Given the description of an element on the screen output the (x, y) to click on. 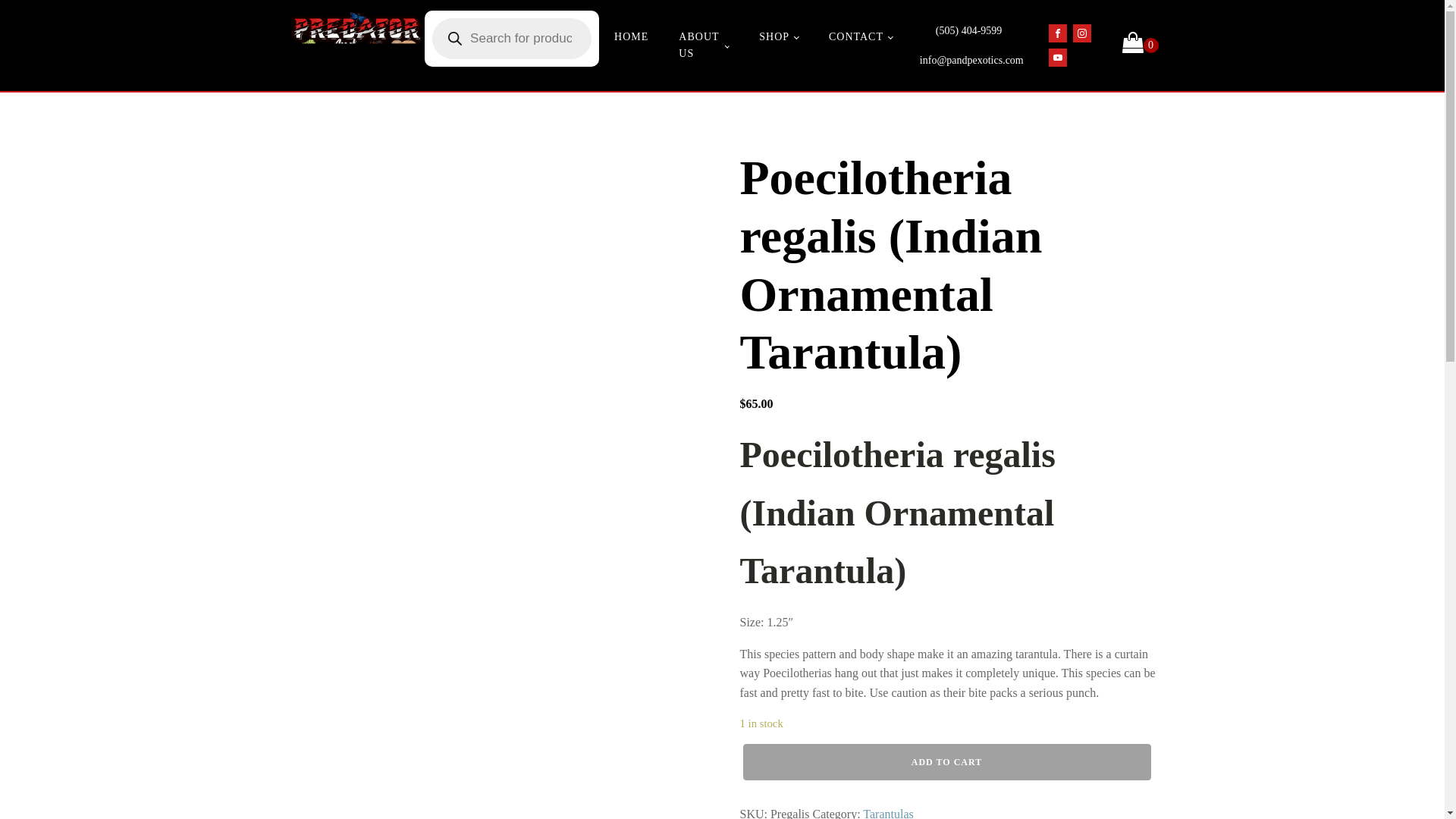
Go to Cart (1140, 44)
ABOUT US (703, 45)
ADD TO CART (946, 761)
HOME (630, 36)
SHOP (778, 36)
Tarantulas (887, 813)
CONTACT (860, 36)
